Given the description of an element on the screen output the (x, y) to click on. 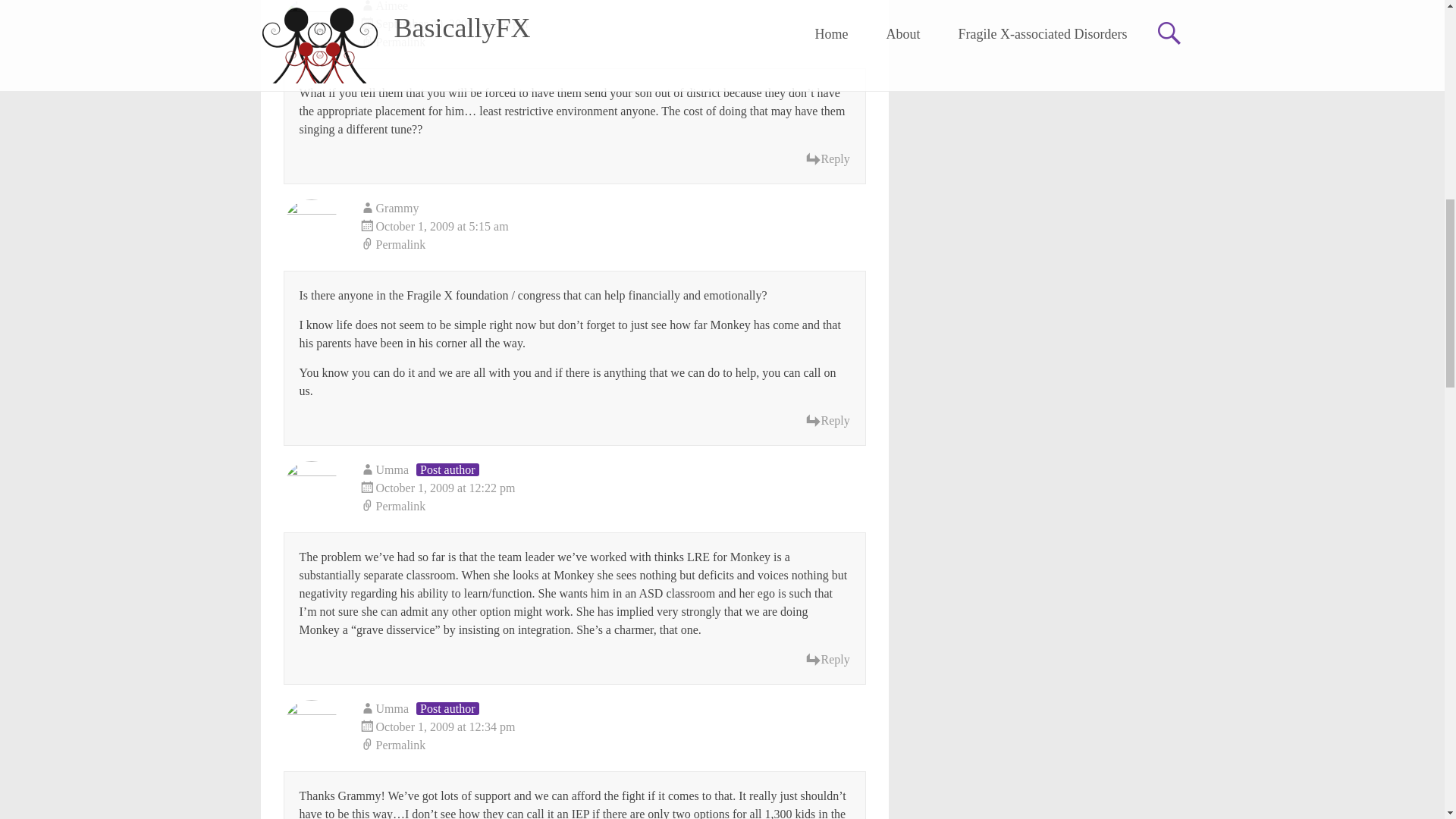
Reply (827, 659)
Reply (827, 158)
Reply (827, 420)
Permalink (612, 244)
Permalink (612, 745)
Permalink (612, 42)
Permalink (612, 506)
